Given the description of an element on the screen output the (x, y) to click on. 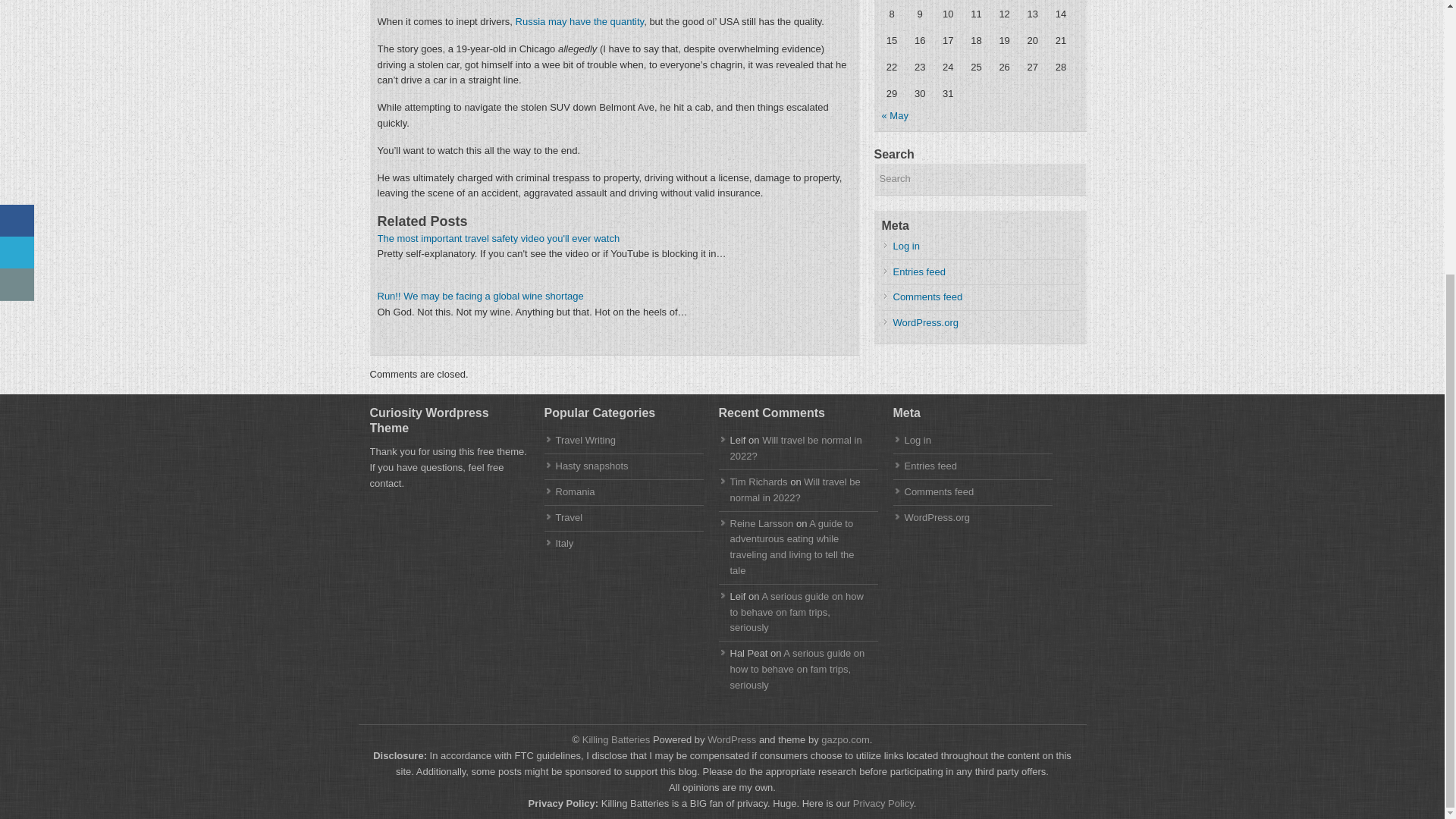
Italy (563, 542)
WordPress (731, 739)
A serious guide on how to behave on fam trips, seriously (796, 611)
Travel (568, 517)
Killing Batteries (614, 739)
Romania (574, 491)
Comments feed (939, 491)
Entries feed (918, 271)
Travel Writing (584, 439)
Run!! We may be facing a global wine shortage (480, 296)
Search (979, 178)
Privacy Policy (883, 803)
Reine Larsson (761, 523)
Log in (917, 439)
Hasty snapshots (590, 465)
